Given the description of an element on the screen output the (x, y) to click on. 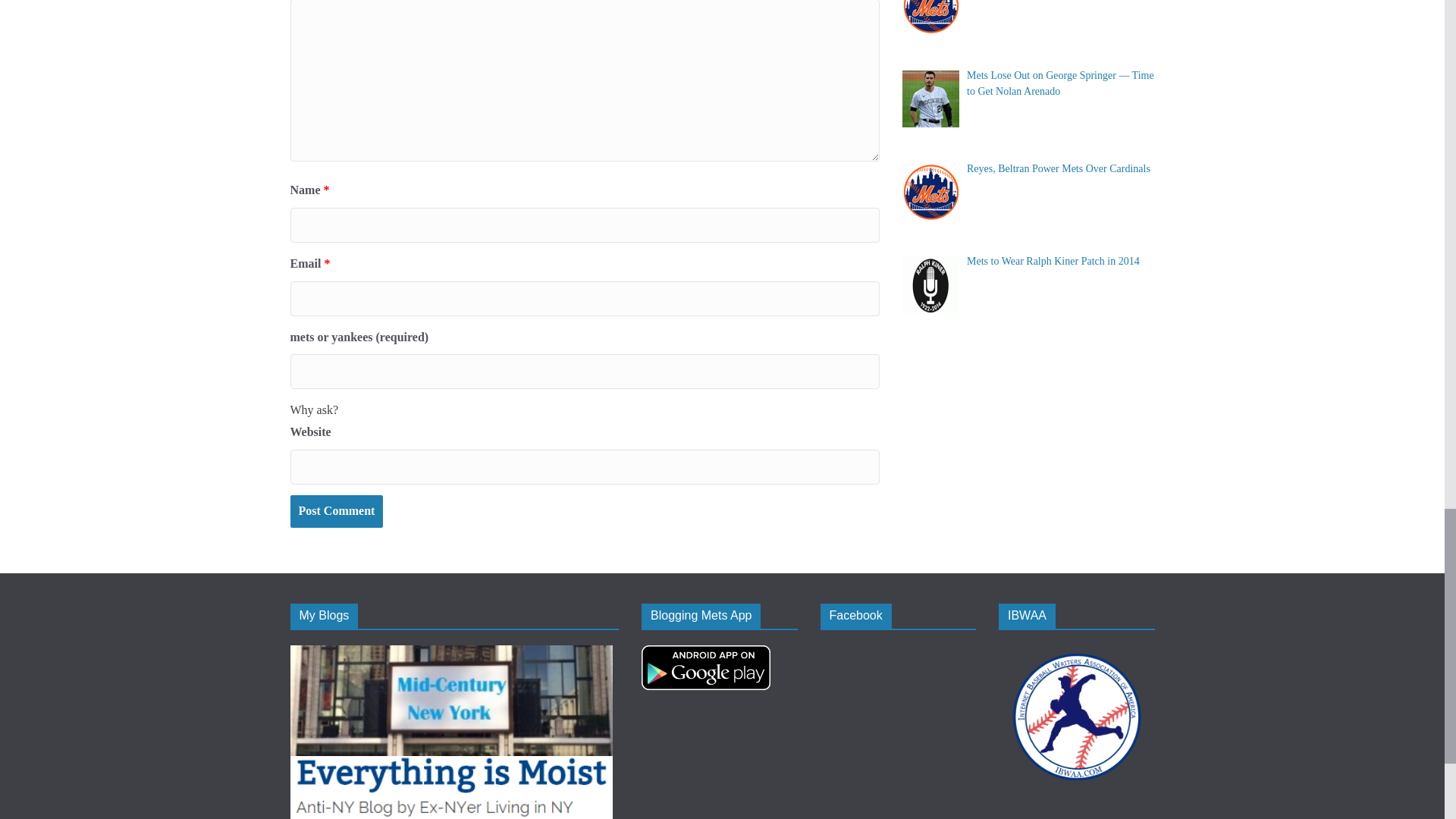
This confirms you are a human user! (313, 409)
Post Comment (335, 511)
